Given the description of an element on the screen output the (x, y) to click on. 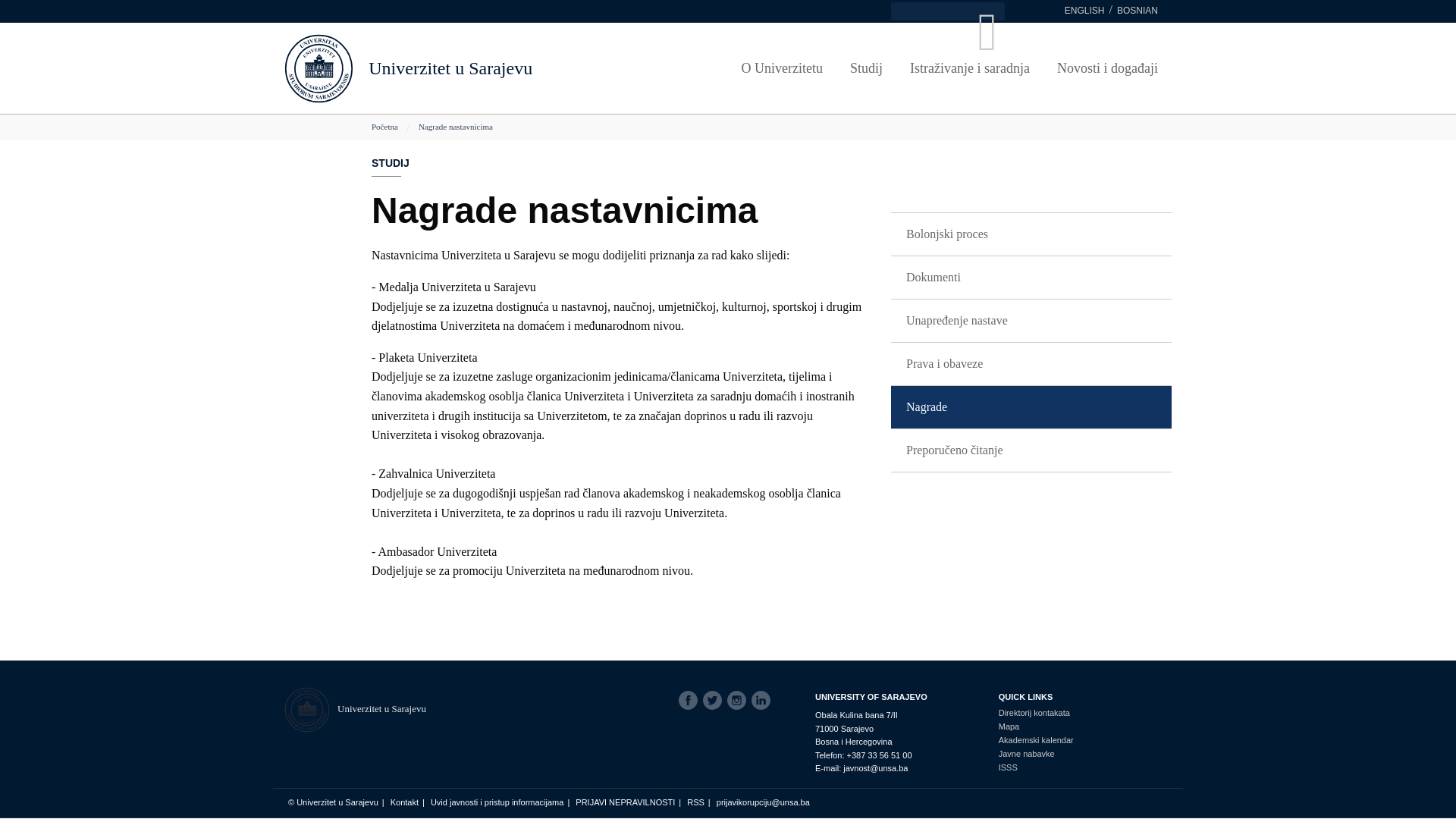
Mapa Element type: text (1035, 726)
Javnost rada (Senat) Element type: text (728, 105)
Instagram Element type: text (739, 700)
Direktorij kontakata Element type: text (1035, 713)
Javnost rada (Upravni odbor) Element type: text (728, 133)
Nagrade Element type: text (1031, 407)
Univerzitet u Sarajevu Element type: text (450, 68)
Javne nabavke Element type: text (1035, 753)
CEEPUS Element type: text (819, 98)
Upravni odbor Element type: text (364, 77)
RSS Element type: text (695, 802)
Fond za razvoj Element type: text (364, 105)
PRIJAVI NEPRAVILNOSTI Element type: text (624, 802)
Osnovni elementi ugovora Element type: text (1092, 77)
Javne nabavke organizacionih jedinica Element type: text (1092, 105)
Dokumenti Element type: text (1031, 277)
Bolonjski proces Element type: text (1031, 234)
ENGLISH Element type: text (1084, 10)
Propisi Univerziteta u Sarajevu Element type: text (728, 77)
ERASMUS+ Element type: text (819, 71)
Nagrade nastavnicima Element type: text (455, 126)
Facebook Element type: text (690, 700)
Horizon2020 Element type: text (455, 98)
Umjetnost, kultura i sport Element type: text (546, 77)
Kontakt Element type: text (404, 802)
Sistem kvaliteta na UNSA Element type: text (910, 133)
Uvid javnosti i pristup informacijama Element type: text (496, 802)
Linkedin Element type: text (763, 700)
Univerzitet u Sarajevu Element type: text (381, 708)
Studij Element type: text (866, 68)
Twitter Element type: text (714, 700)
TRAIN Element type: text (1011, 112)
BOSNIAN Element type: text (1137, 10)
Registar projekata UNSA Element type: text (455, 127)
Akademski kalendar Element type: text (1035, 740)
Prava i obaveze Element type: text (1031, 363)
Organizacione jedinice Element type: text (364, 133)
ISSS Element type: text (1035, 767)
Zemaljski muzej BiH Element type: text (546, 133)
NUB BiH Element type: text (546, 105)
O Univerzitetu Element type: text (782, 68)
prijavikorupciju@unsa.ba Element type: text (762, 802)
Projekti Element type: text (455, 71)
Pretraga Element type: text (56, 9)
